Given the description of an element on the screen output the (x, y) to click on. 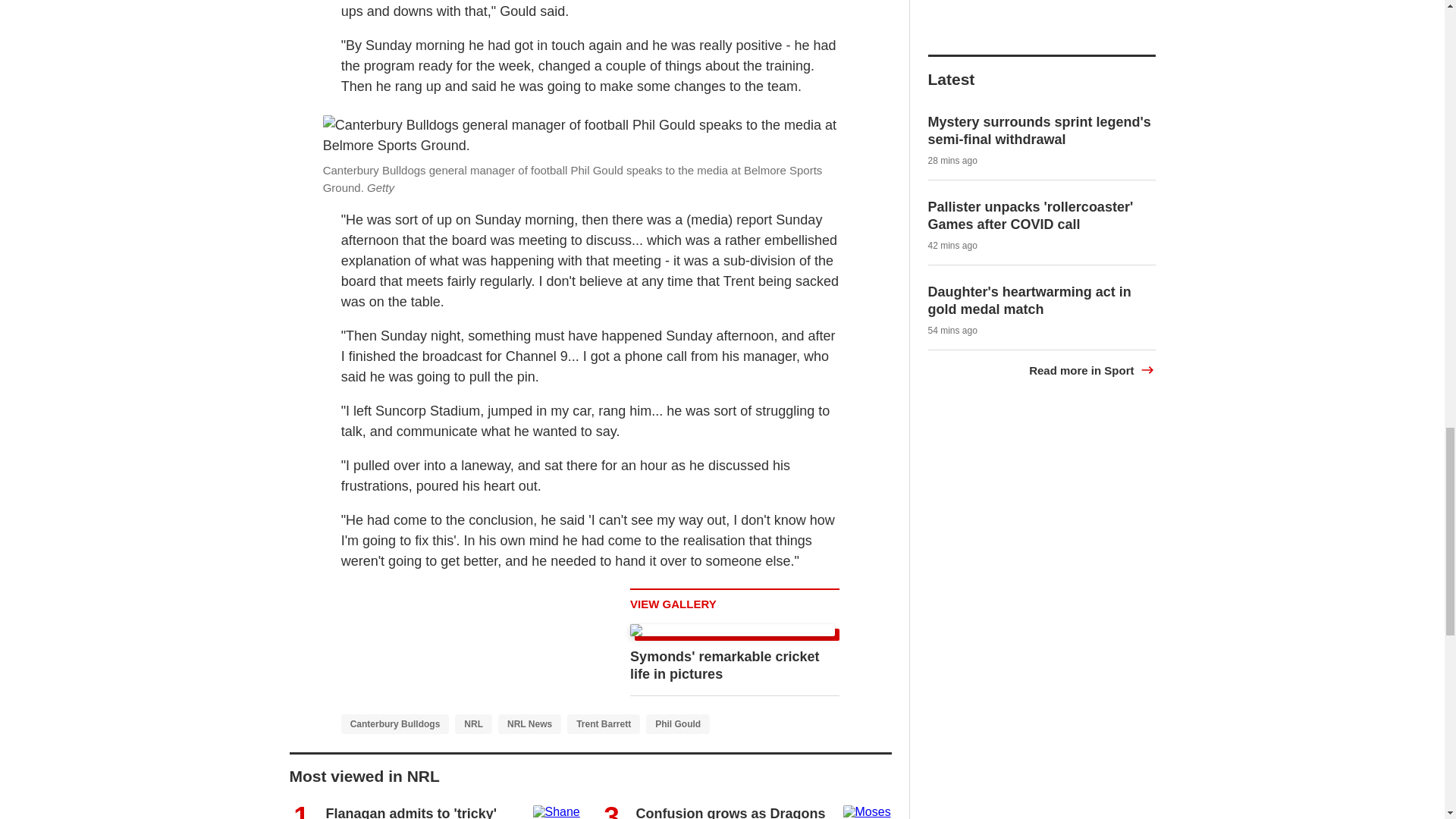
Symonds' remarkable cricket life in pictures (724, 665)
Phil Gould (678, 723)
Canterbury Bulldogs (394, 723)
NRL (473, 723)
NRL News (528, 723)
Trent Barrett (603, 723)
